Given the description of an element on the screen output the (x, y) to click on. 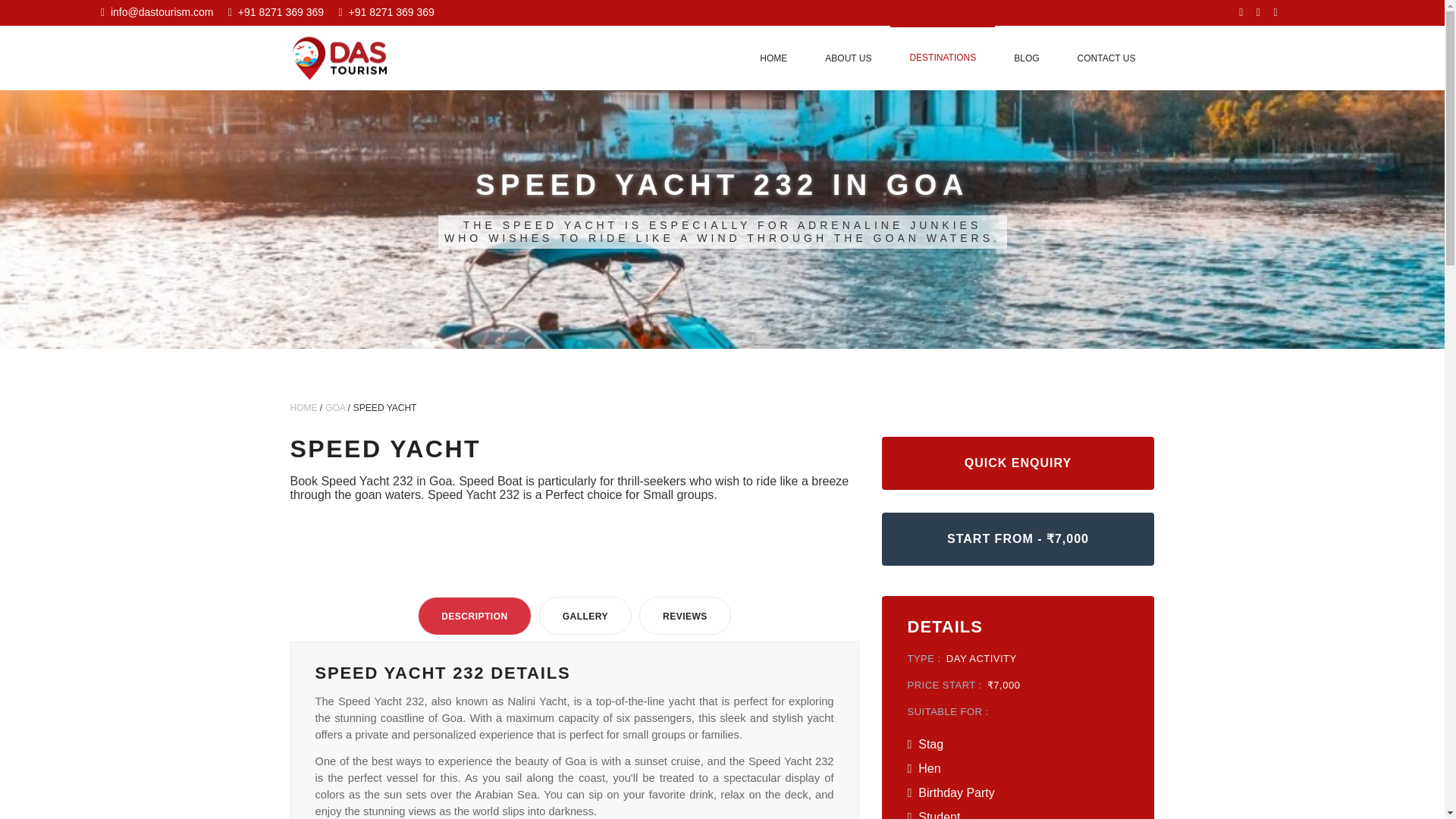
CONTACT US (1106, 57)
HOME (772, 57)
QUICK ENQUIRY (1017, 463)
HOME (303, 407)
GOA (334, 407)
ABOUT US (847, 57)
BLOG (1026, 57)
DESTINATIONS (942, 56)
